Given the description of an element on the screen output the (x, y) to click on. 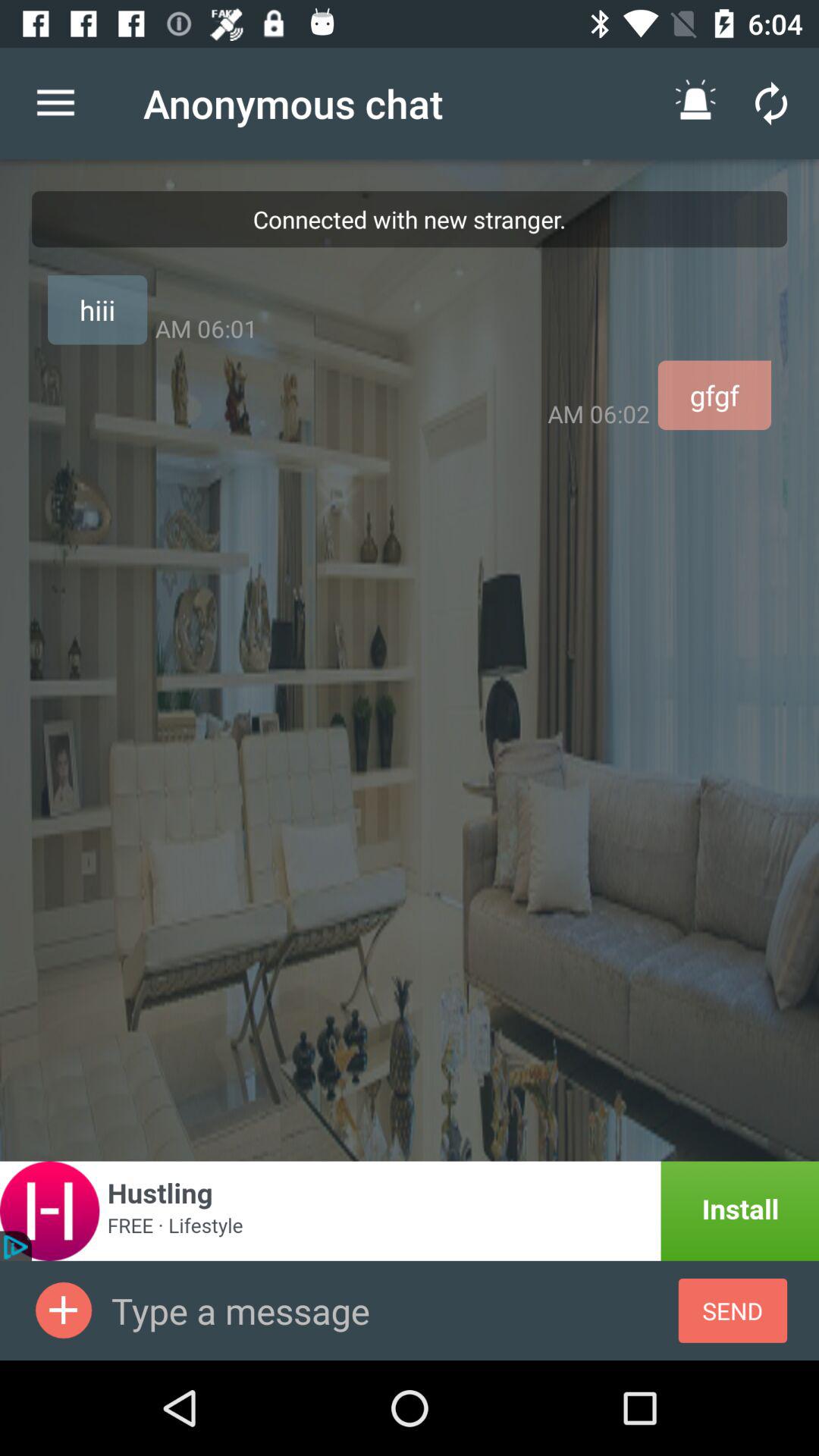
enter message (394, 1310)
